Given the description of an element on the screen output the (x, y) to click on. 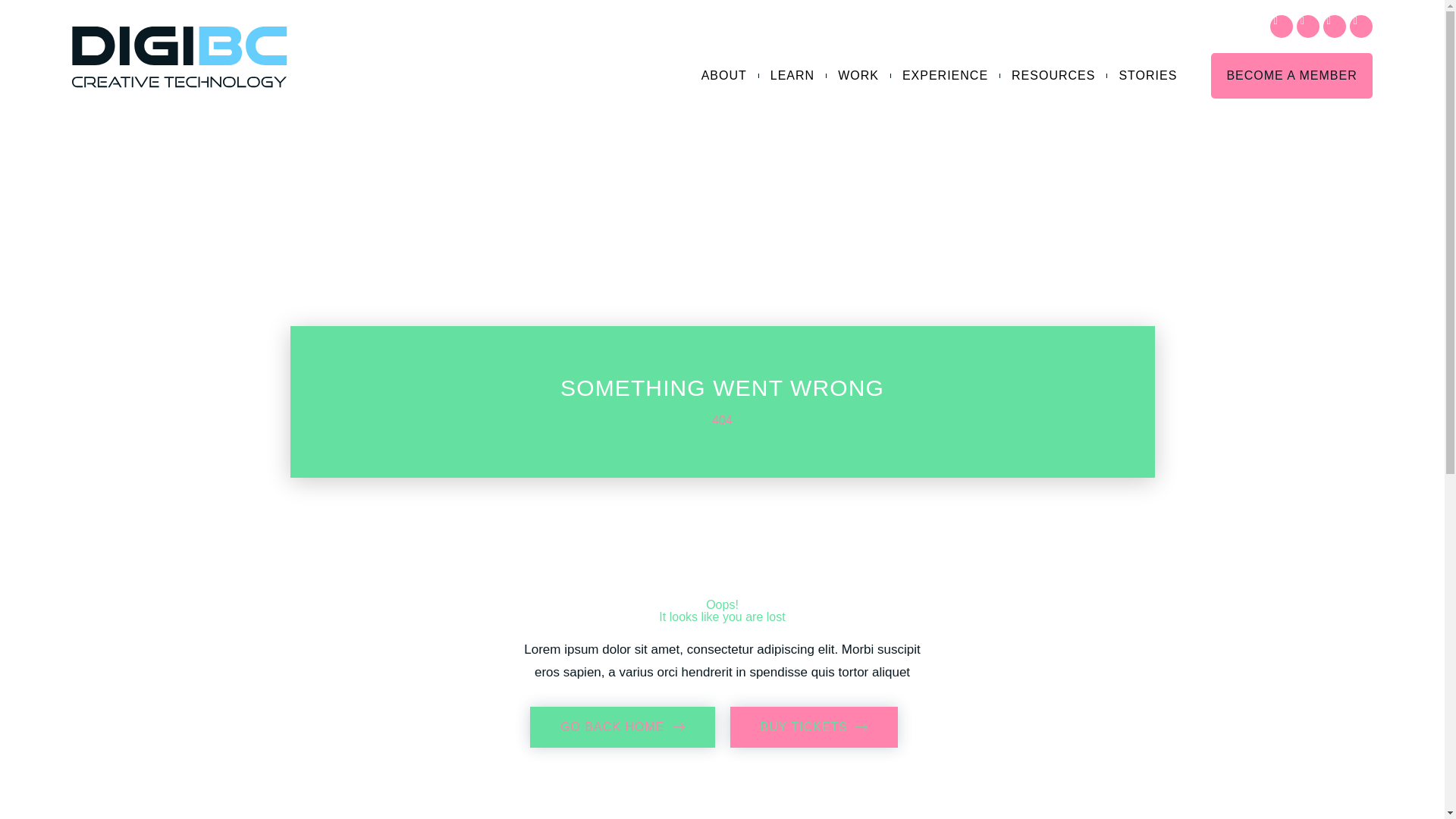
ABOUT (724, 75)
EXPERIENCE (944, 75)
STORIES (1147, 75)
WORK (621, 726)
RESOURCES (858, 75)
BECOME A MEMBER (812, 726)
ARROW-ICON-SIZE3 (1053, 75)
LEARN (1291, 75)
